Given the description of an element on the screen output the (x, y) to click on. 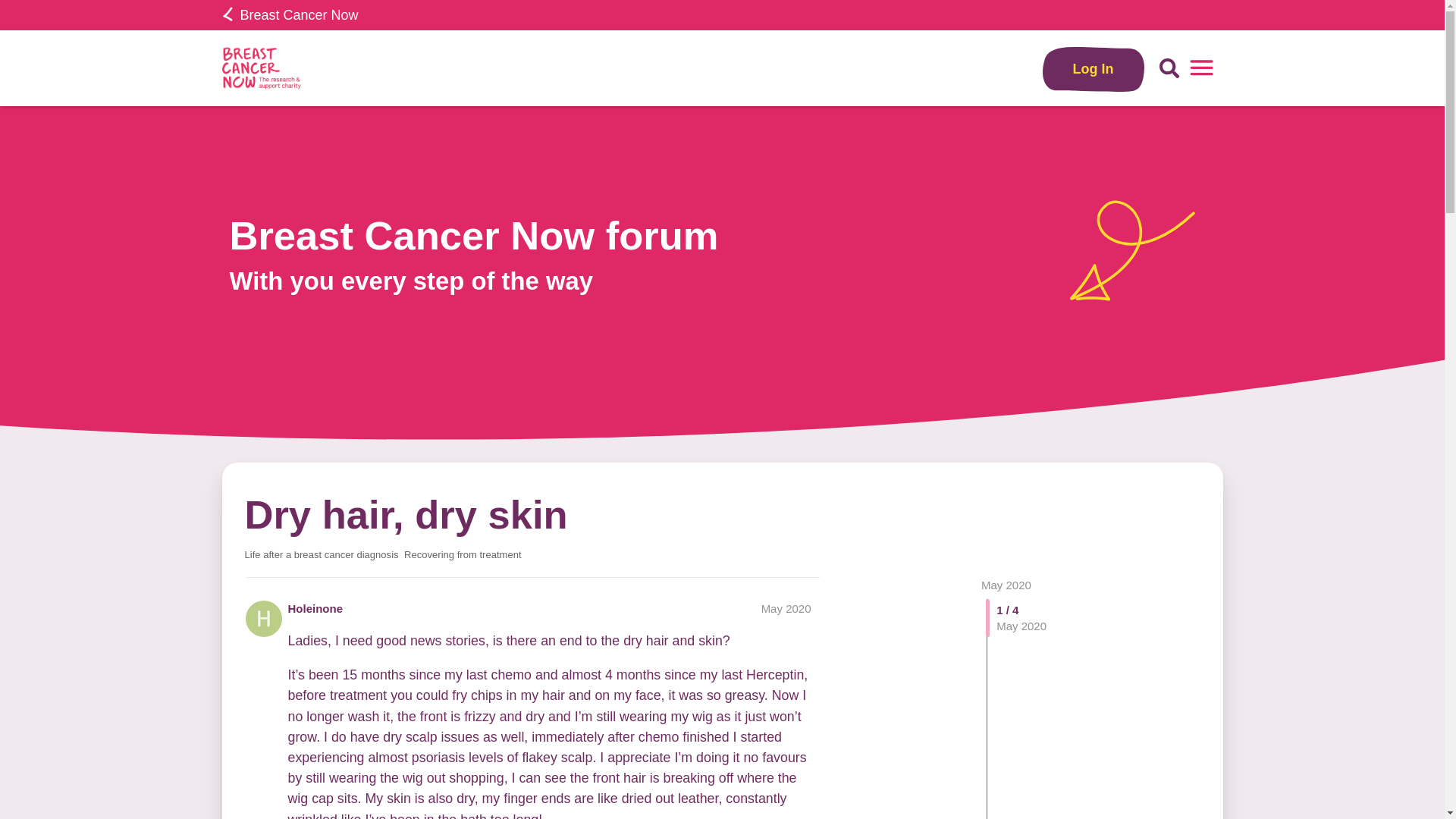
Search (1169, 68)
menu (1201, 67)
May 2020 (785, 608)
Post date (785, 608)
Recovering from treatment (462, 554)
Dry hair, dry skin (405, 514)
May 2020 (1005, 584)
Life after a breast cancer diagnosis (320, 554)
Log In (1093, 68)
Holeinone (315, 608)
May 2020 (1005, 584)
Breast Cancer Now (289, 15)
